Given the description of an element on the screen output the (x, y) to click on. 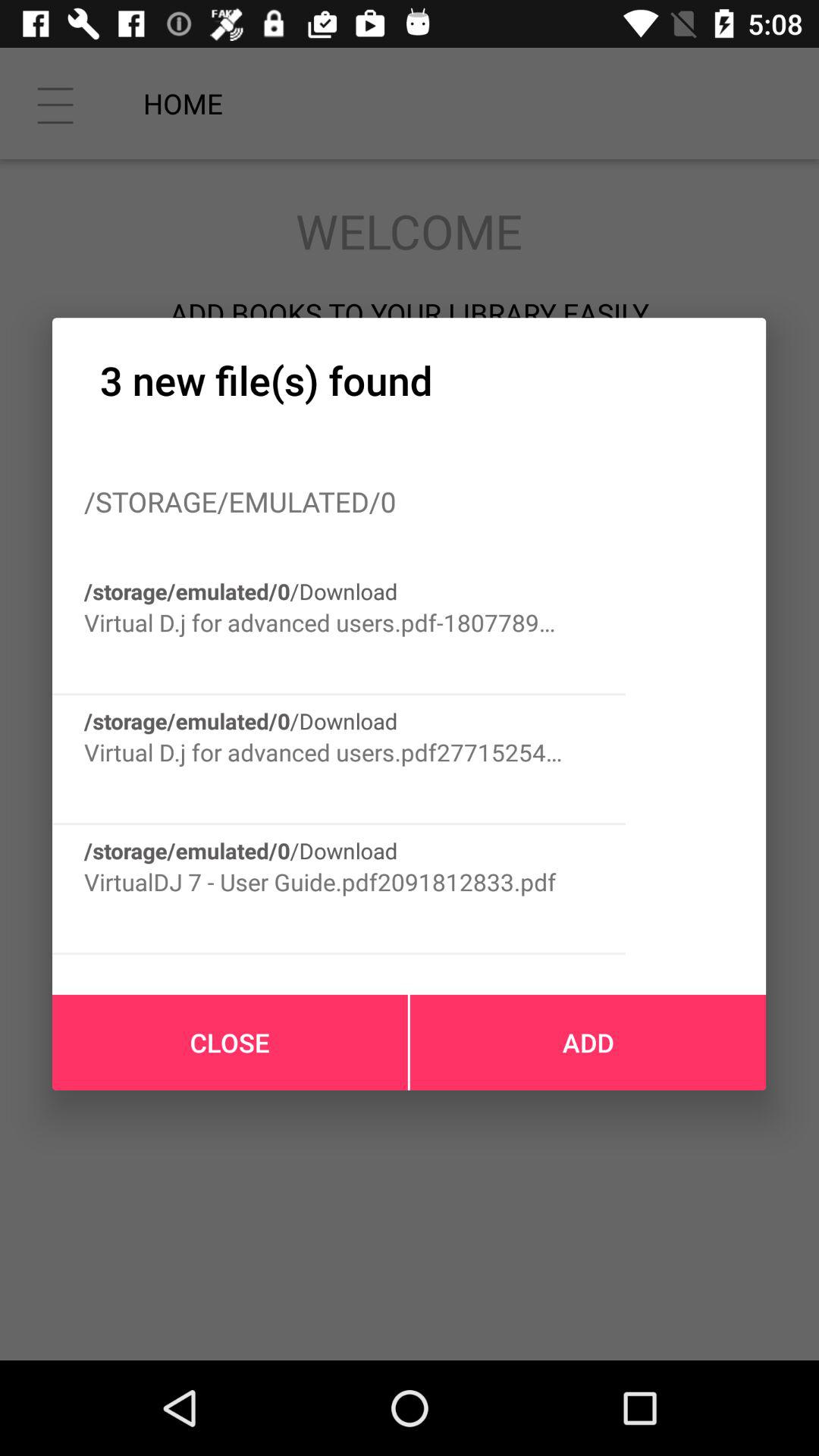
turn on the icon at the bottom right corner (588, 1042)
